Given the description of an element on the screen output the (x, y) to click on. 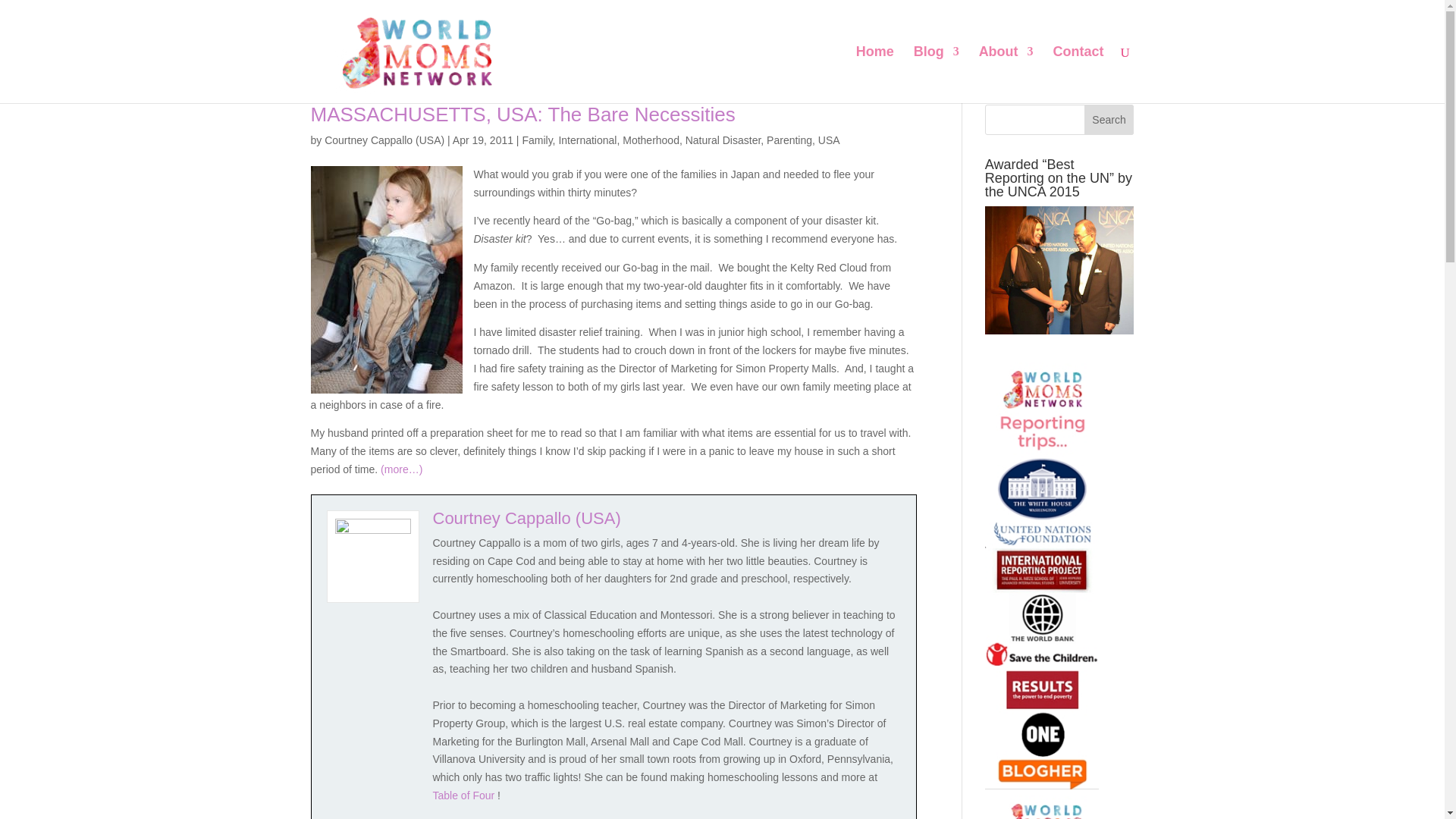
Contact (1077, 74)
About (1005, 74)
Search (1109, 119)
